Given the description of an element on the screen output the (x, y) to click on. 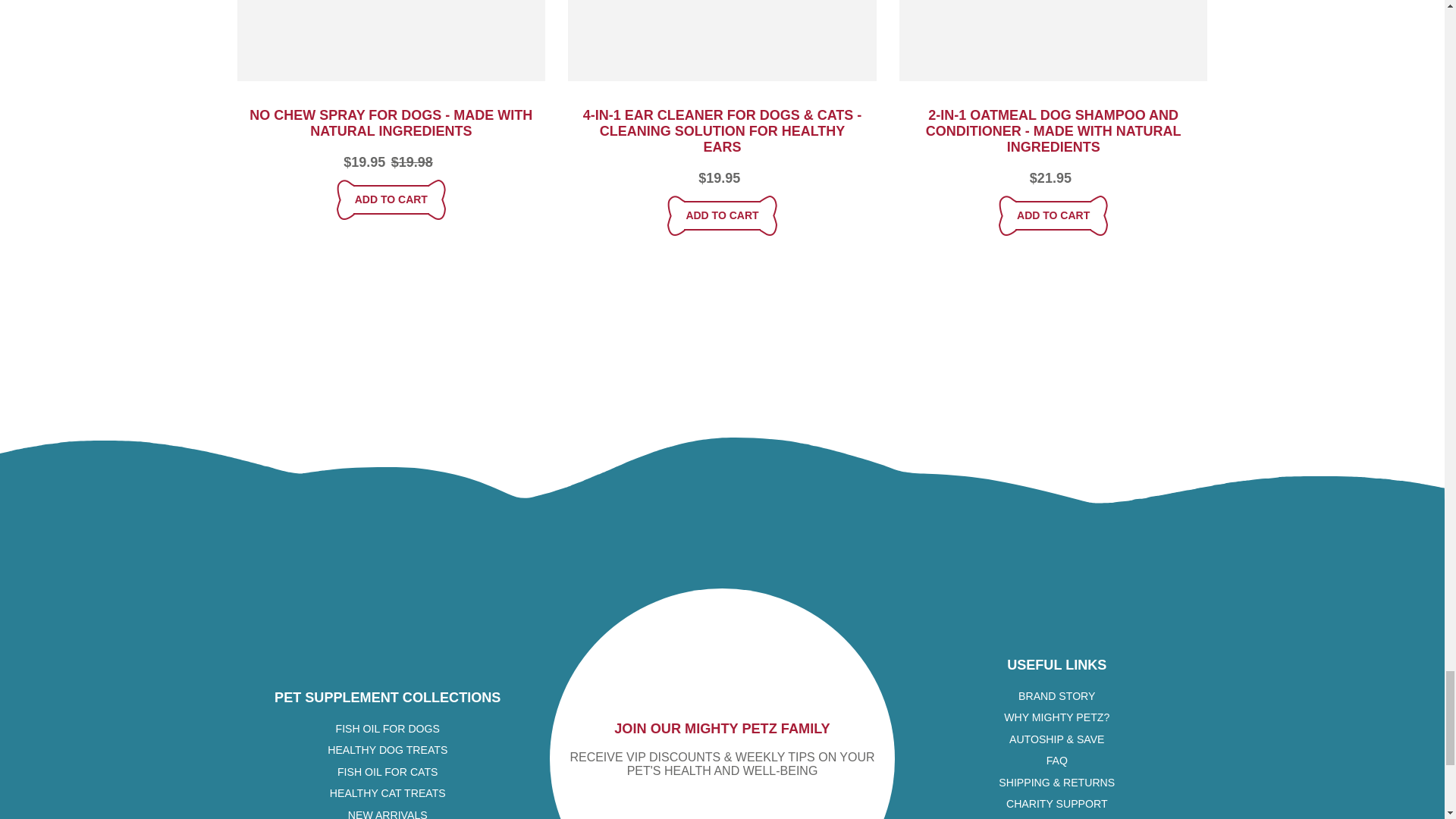
Charity Support (1057, 803)
New Arrivals (387, 814)
Healthy Dog Treats (386, 749)
Healthy Cat Treats (387, 793)
Fish Oil For Cats (387, 771)
Fish Oil For Dogs (387, 728)
WHY MIGHTY PETZ? (1056, 717)
Faq (1056, 760)
Brand Story (1055, 695)
